Given the description of an element on the screen output the (x, y) to click on. 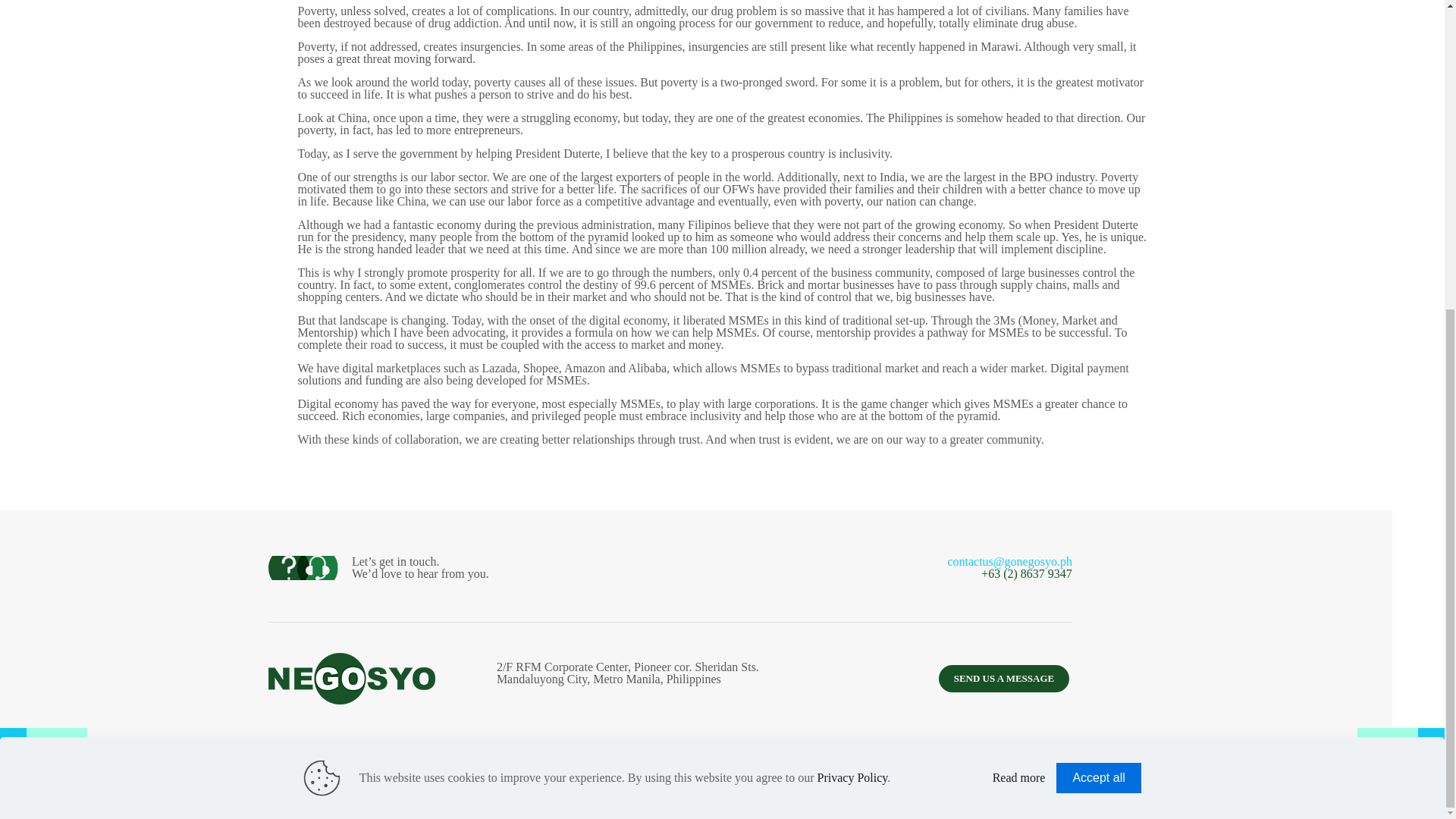
SEND US A MESSAGE (1004, 678)
Privacy Policy (852, 287)
Accept all (1098, 288)
Terms of Use (587, 779)
Read more (1018, 288)
Privacy Policy (665, 779)
